Given the description of an element on the screen output the (x, y) to click on. 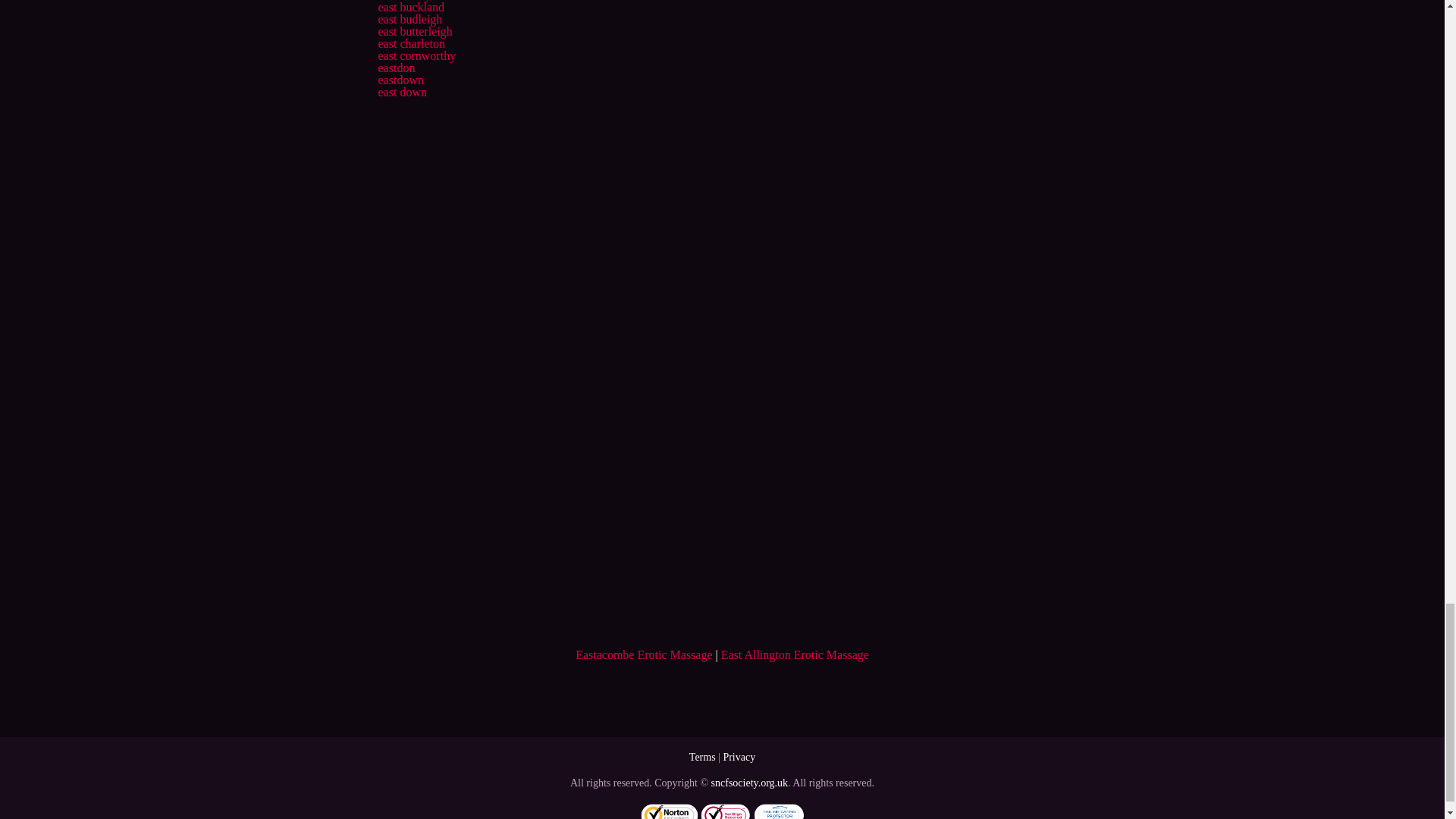
east budleigh (409, 19)
east cornworthy (416, 55)
east anstey (403, 0)
east butterleigh (414, 31)
east buckland (410, 6)
Eastacombe Erotic Massage (643, 654)
Privacy (738, 756)
eastdown (400, 79)
Terms (702, 756)
east charleton (410, 42)
Terms (702, 756)
Privacy (738, 756)
east down (401, 91)
East Allington Erotic Massage (794, 654)
eastdon (395, 67)
